Given the description of an element on the screen output the (x, y) to click on. 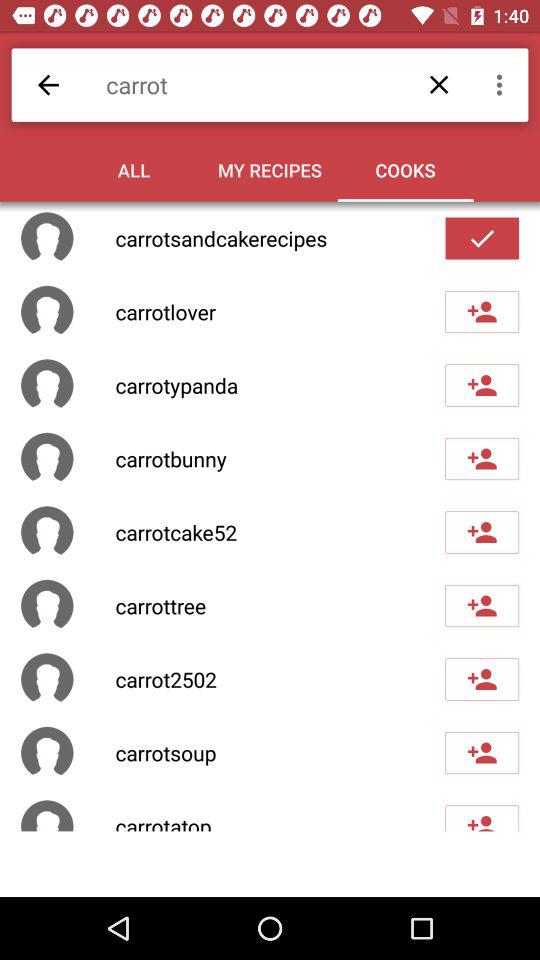
add user (482, 606)
